Given the description of an element on the screen output the (x, y) to click on. 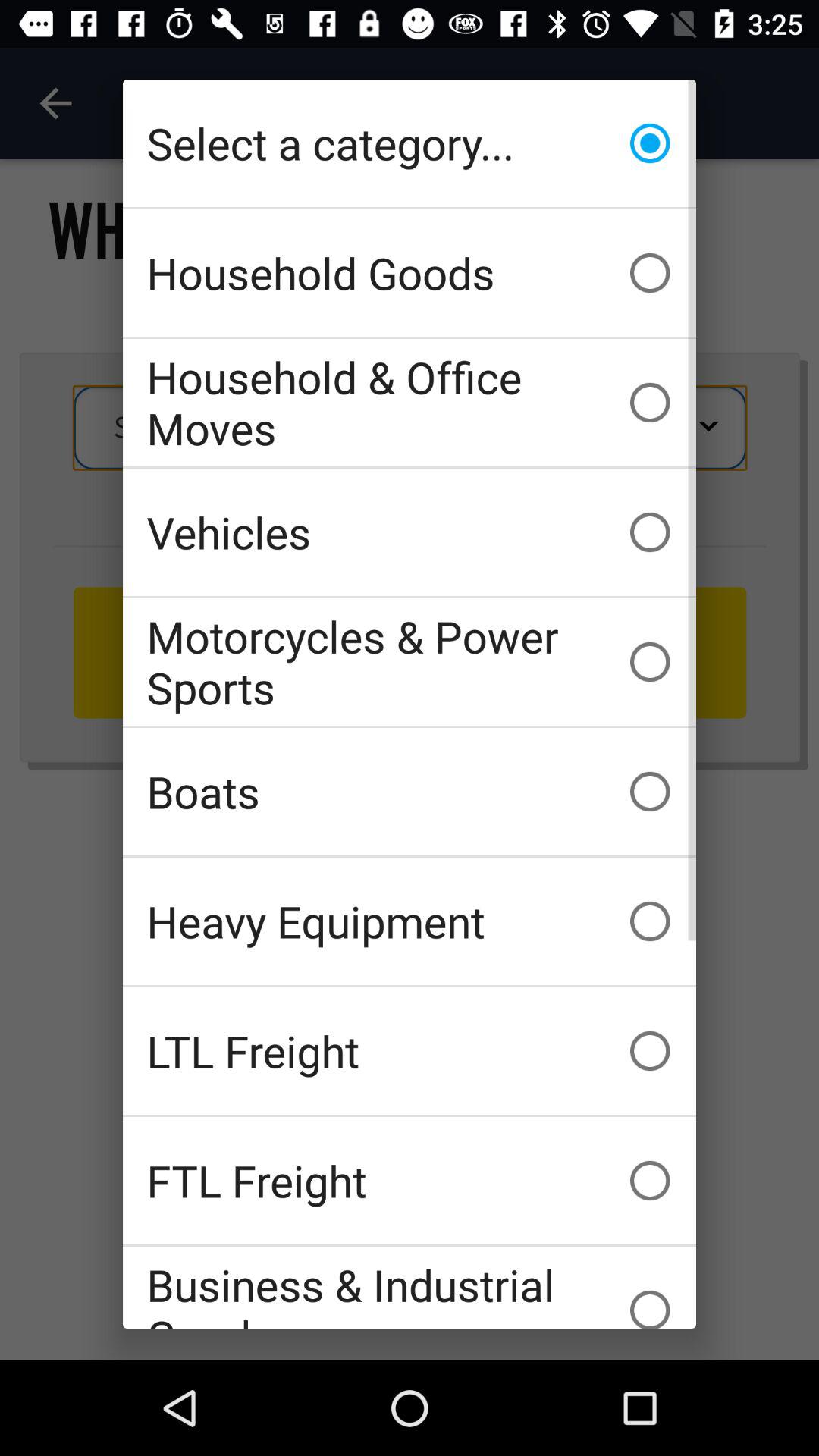
jump to the household & office moves item (409, 402)
